Given the description of an element on the screen output the (x, y) to click on. 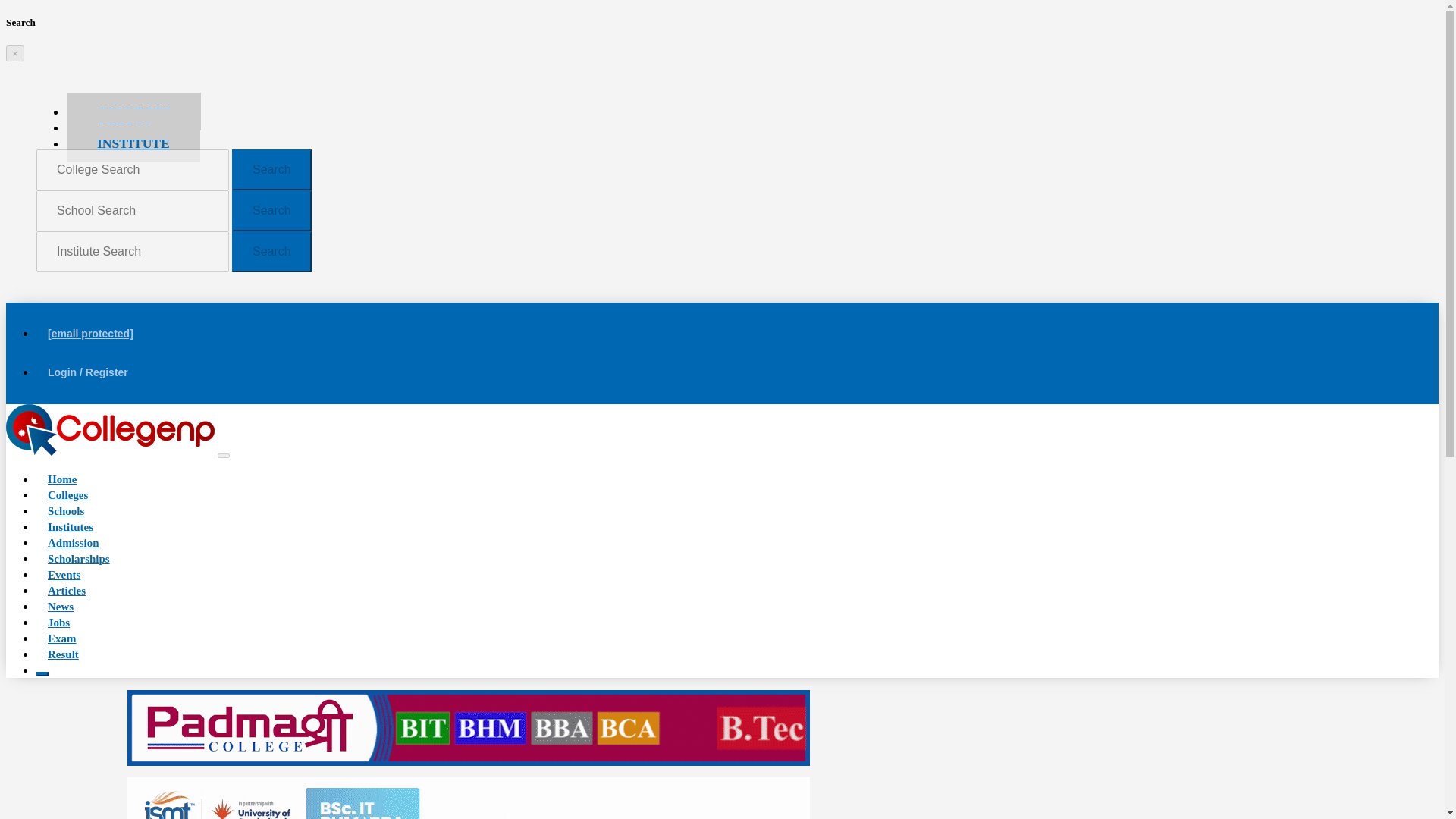
News (60, 606)
Jobs (58, 622)
COLLEGES (133, 111)
Admission (73, 542)
SCHOOL (125, 127)
Scholarships (78, 558)
Result (63, 654)
Institutes (70, 526)
Colleges (67, 495)
Schools (66, 510)
